Given the description of an element on the screen output the (x, y) to click on. 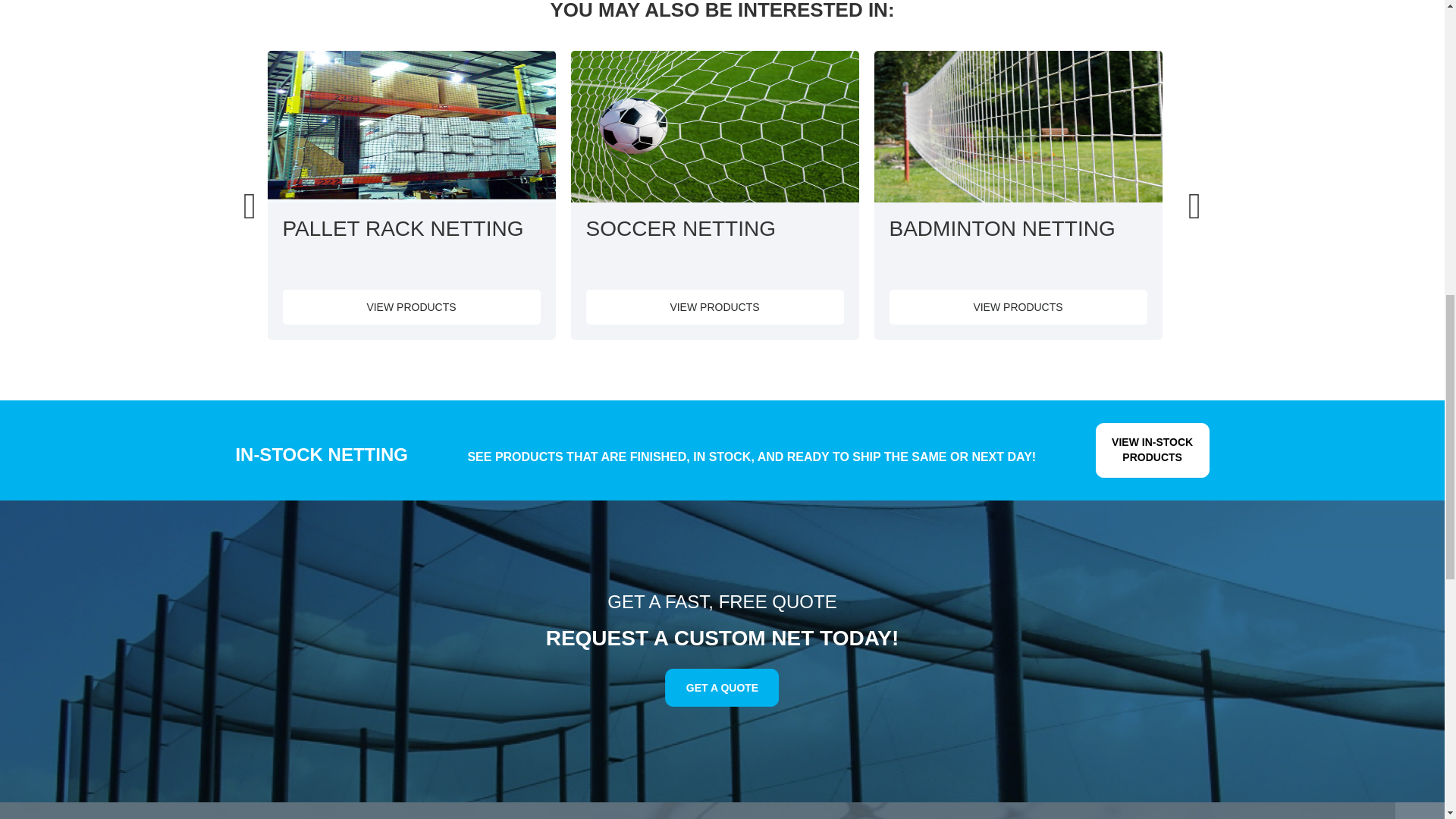
View Products (411, 306)
